Given the description of an element on the screen output the (x, y) to click on. 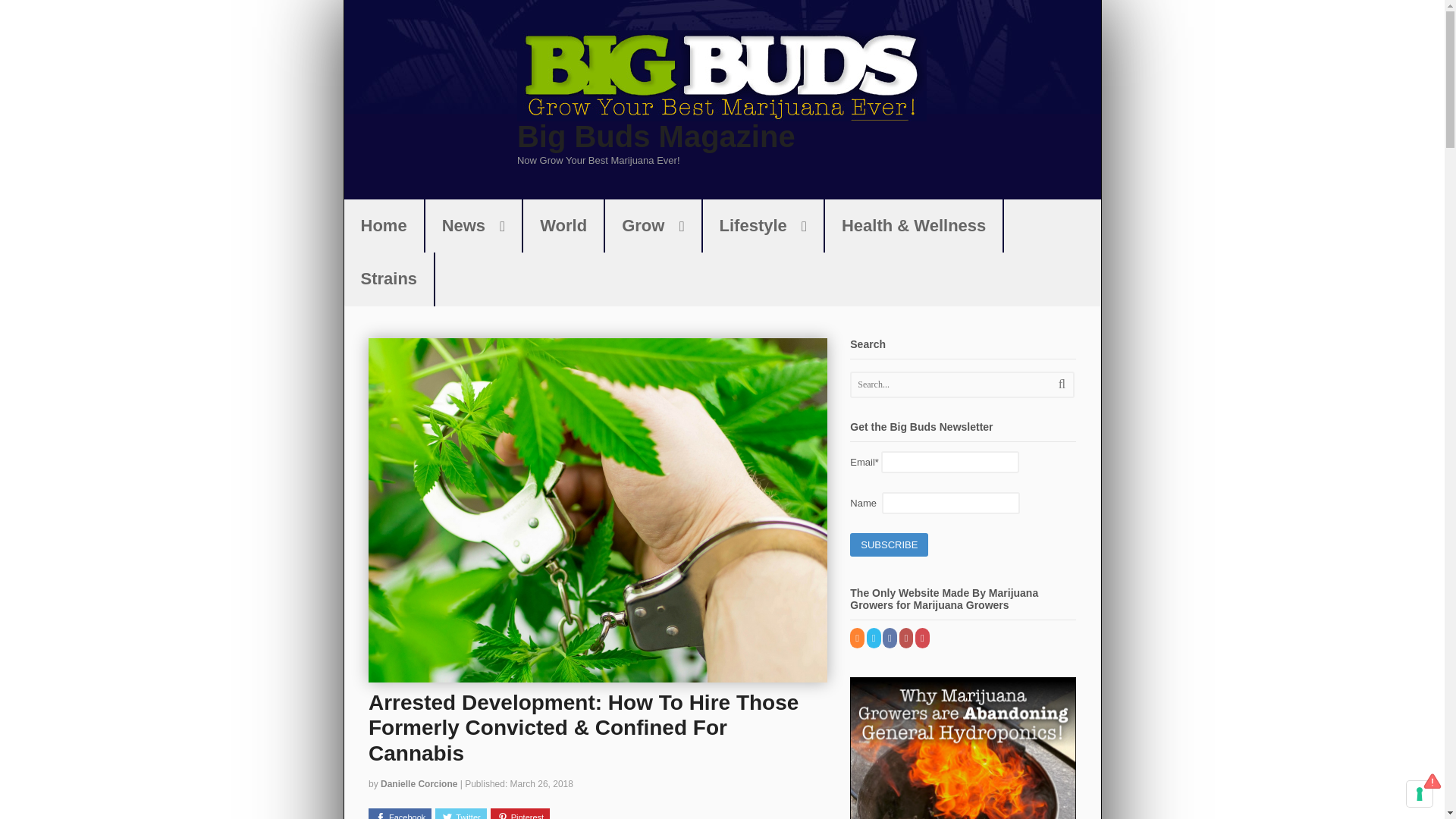
Subscribe (889, 545)
Danielle Corcione (418, 783)
Posts by Danielle Corcione (418, 783)
Twitter (874, 638)
Pinterest (923, 638)
Strains (388, 278)
Grow (652, 225)
Facebook (399, 813)
RSS (858, 638)
World (563, 225)
Pinterest (520, 813)
Big Buds Magazine (655, 136)
Search... (951, 384)
Twitter (460, 813)
Lifestyle (763, 225)
